Given the description of an element on the screen output the (x, y) to click on. 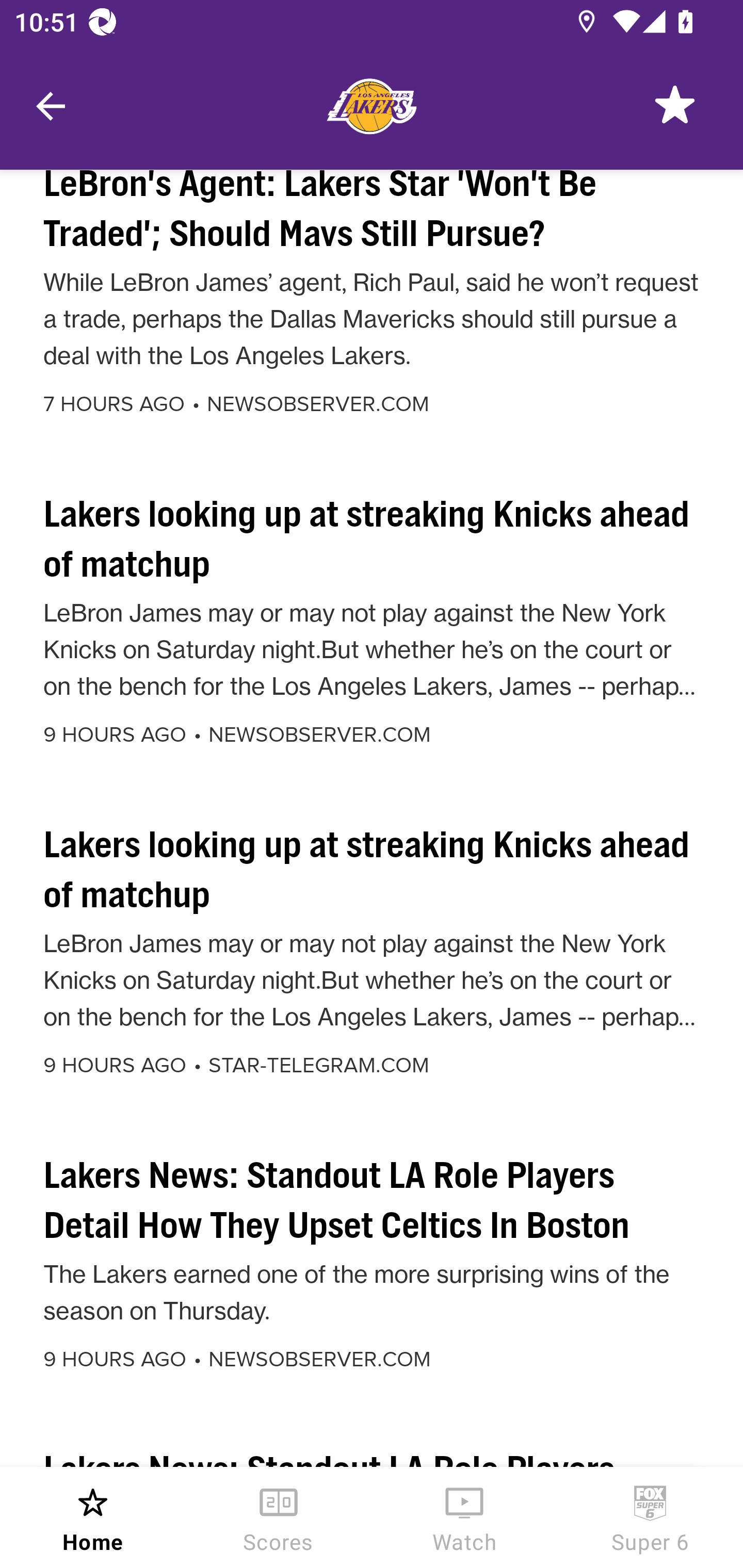
Navigate up (50, 106)
Scores (278, 1517)
Watch (464, 1517)
Super 6 (650, 1517)
